Given the description of an element on the screen output the (x, y) to click on. 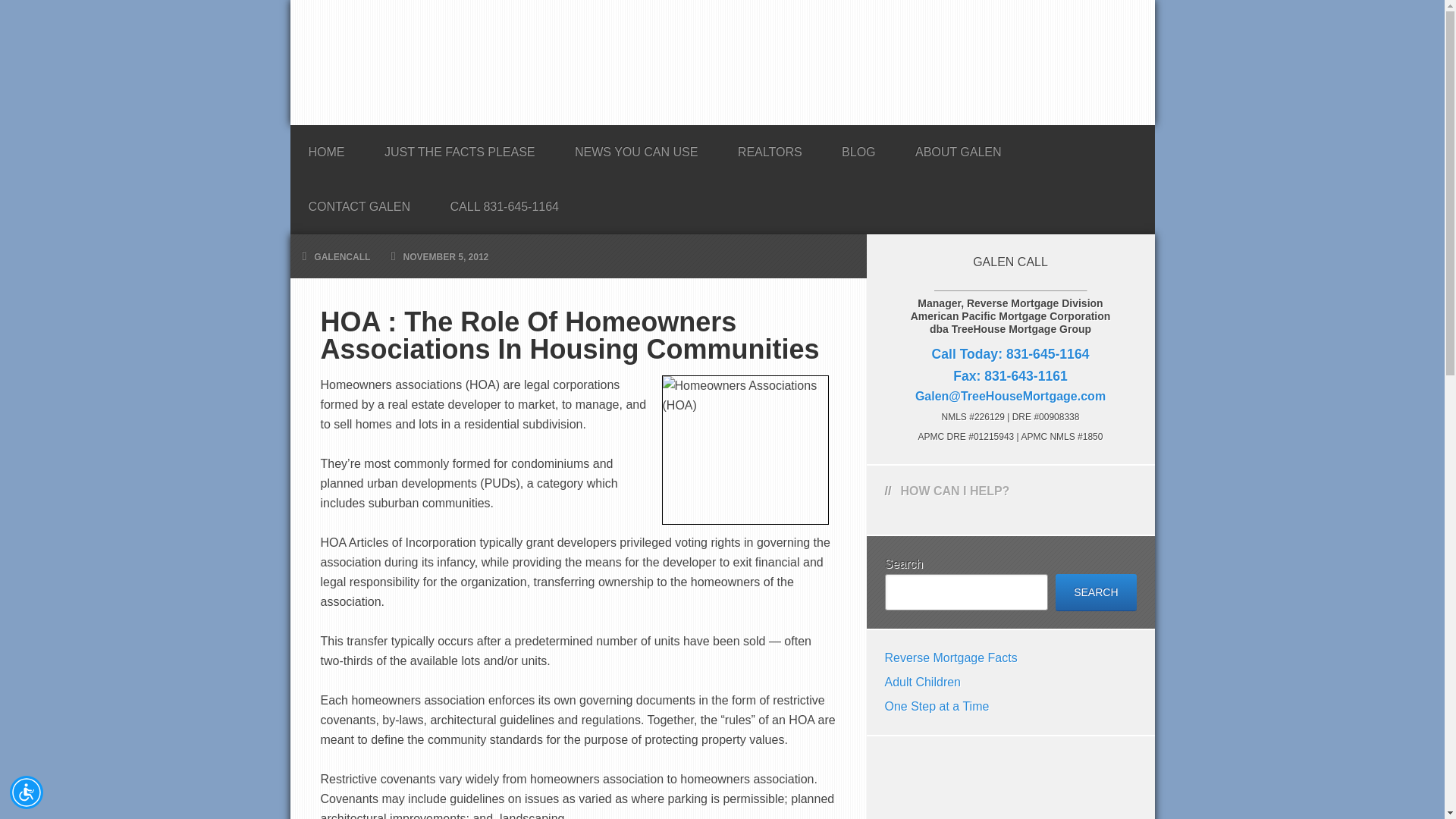
Adult Children (921, 681)
GALENCALL (341, 256)
Accessibility Menu (26, 792)
Fax: 831-643-1161 (1010, 376)
JUST THE FACTS PLEASE (459, 147)
CALL 831-645-1164 (505, 202)
Reverse Mortgage Facts (949, 657)
REALTORS (770, 147)
HOME (325, 147)
CONTACT GALEN (358, 202)
GALEN CALL REVERSE MORTGAGE SPECIALIST MONTEREY CALIFORNIA (721, 62)
ABOUT GALEN (958, 147)
SEARCH (1095, 592)
BLOG (858, 147)
